Given the description of an element on the screen output the (x, y) to click on. 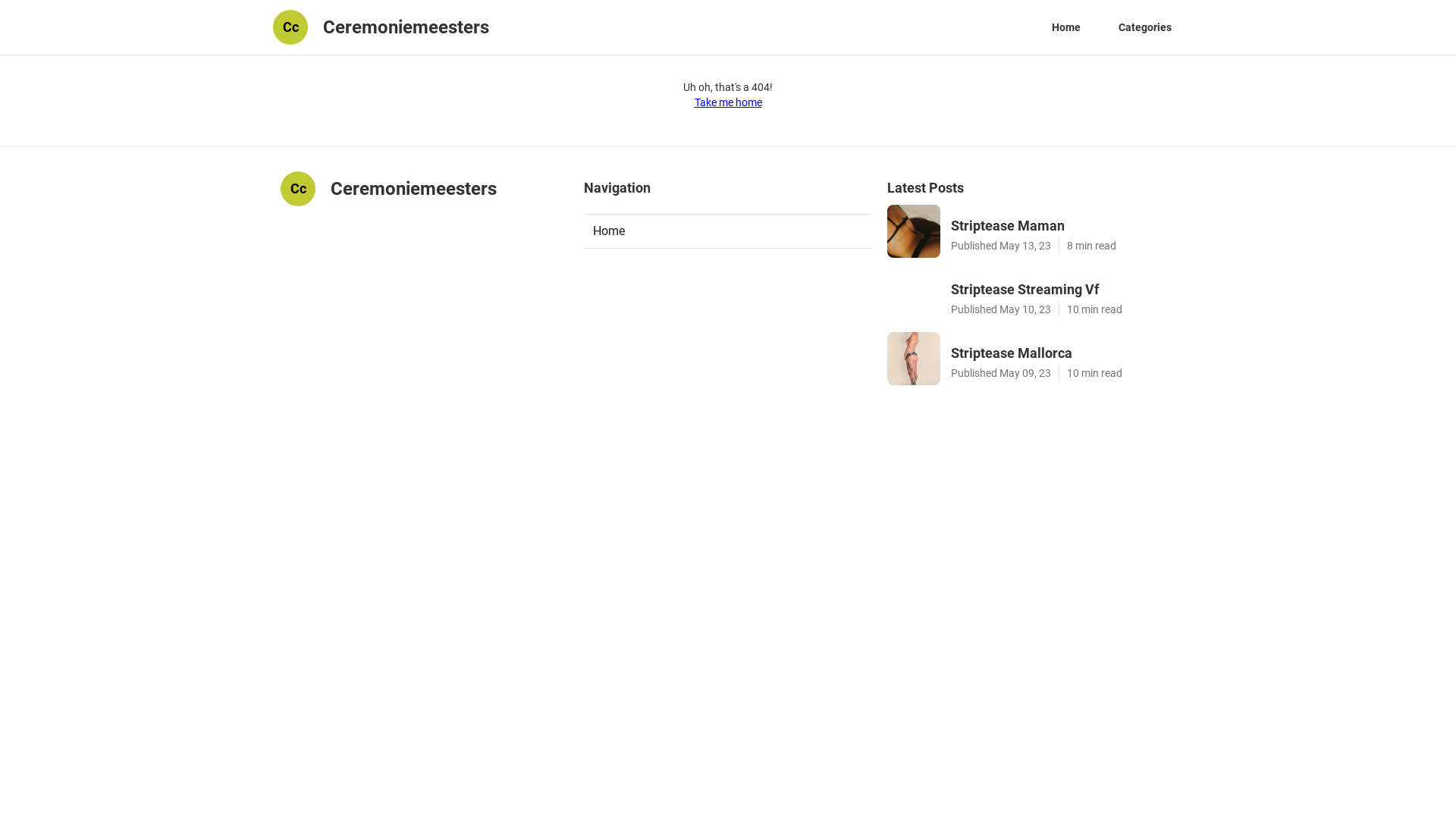
Home Element type: text (1066, 26)
Categories Element type: text (1145, 26)
Striptease Streaming Vf Element type: text (1062, 289)
Take me home Element type: text (728, 101)
Home Element type: text (727, 230)
Striptease Mallorca Element type: text (1062, 353)
Striptease Maman Element type: text (1062, 225)
